Given the description of an element on the screen output the (x, y) to click on. 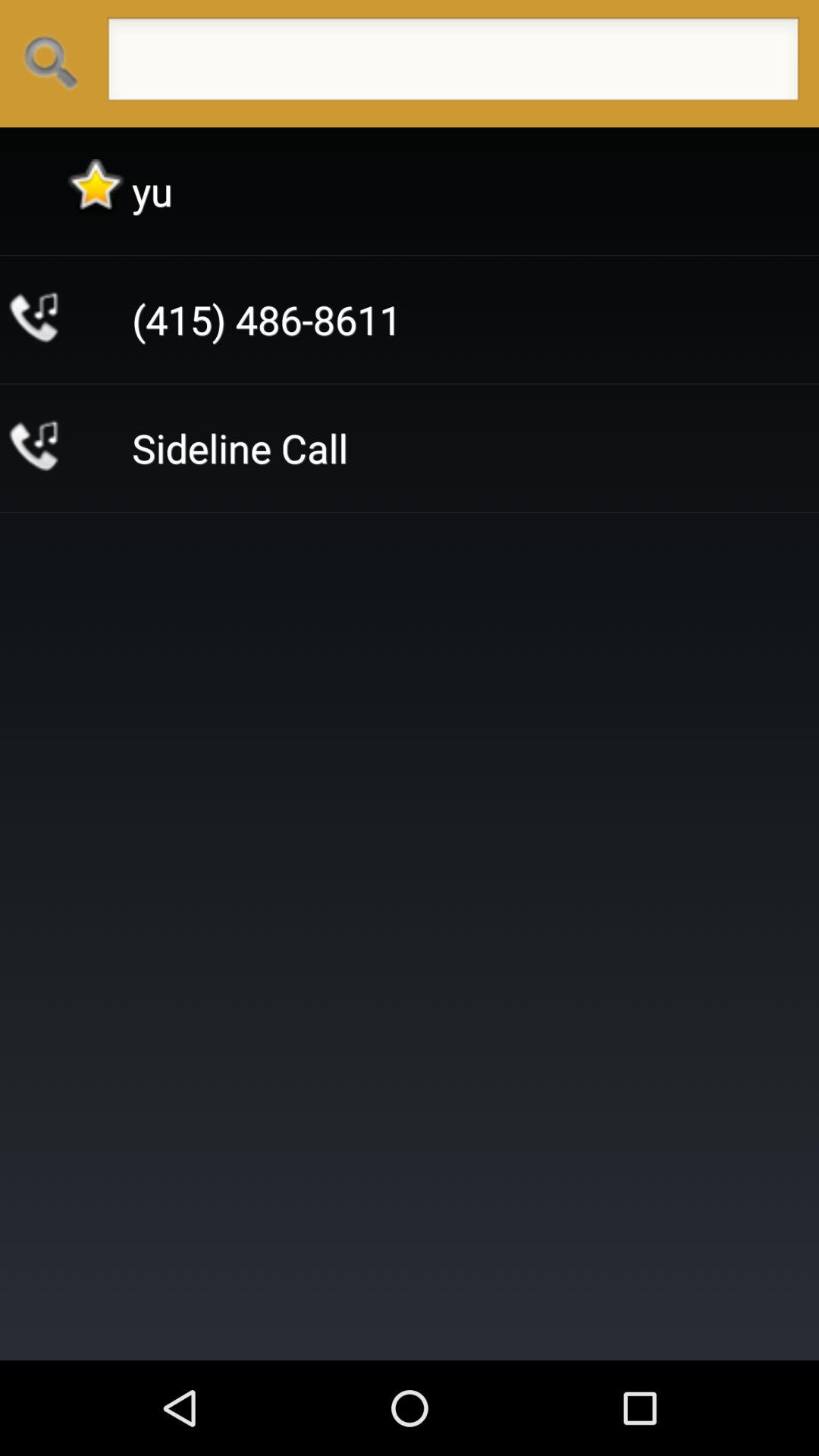
flip to the sideline call item (239, 447)
